Given the description of an element on the screen output the (x, y) to click on. 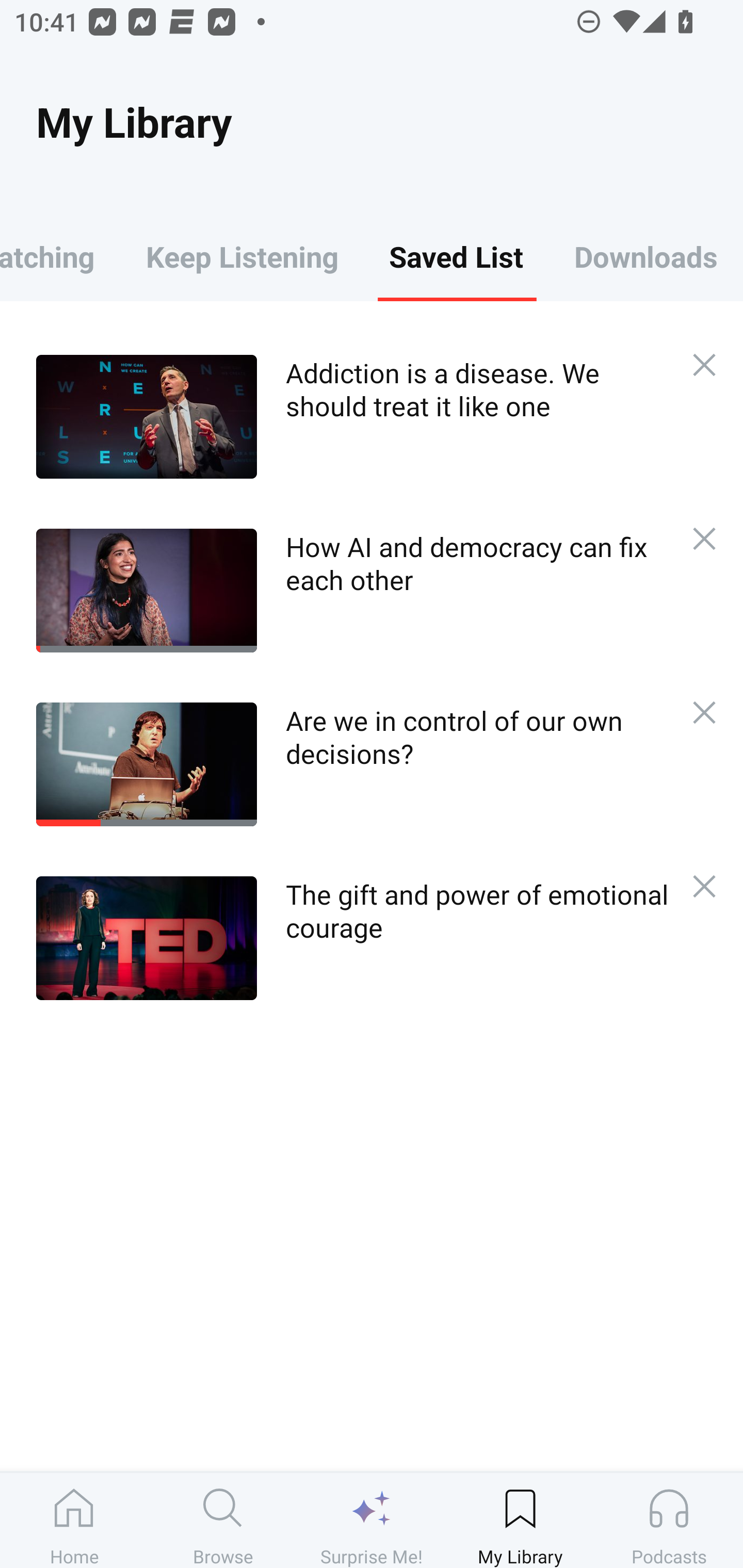
Keep Watching (60, 256)
Keep Listening (242, 256)
Saved List (456, 256)
Downloads (646, 256)
How AI and democracy can fix each other (353, 590)
Are we in control of our own decisions? (353, 764)
The gift and power of emotional courage (353, 938)
Home (74, 1520)
Browse (222, 1520)
Surprise Me! (371, 1520)
My Library (519, 1520)
Podcasts (668, 1520)
